Given the description of an element on the screen output the (x, y) to click on. 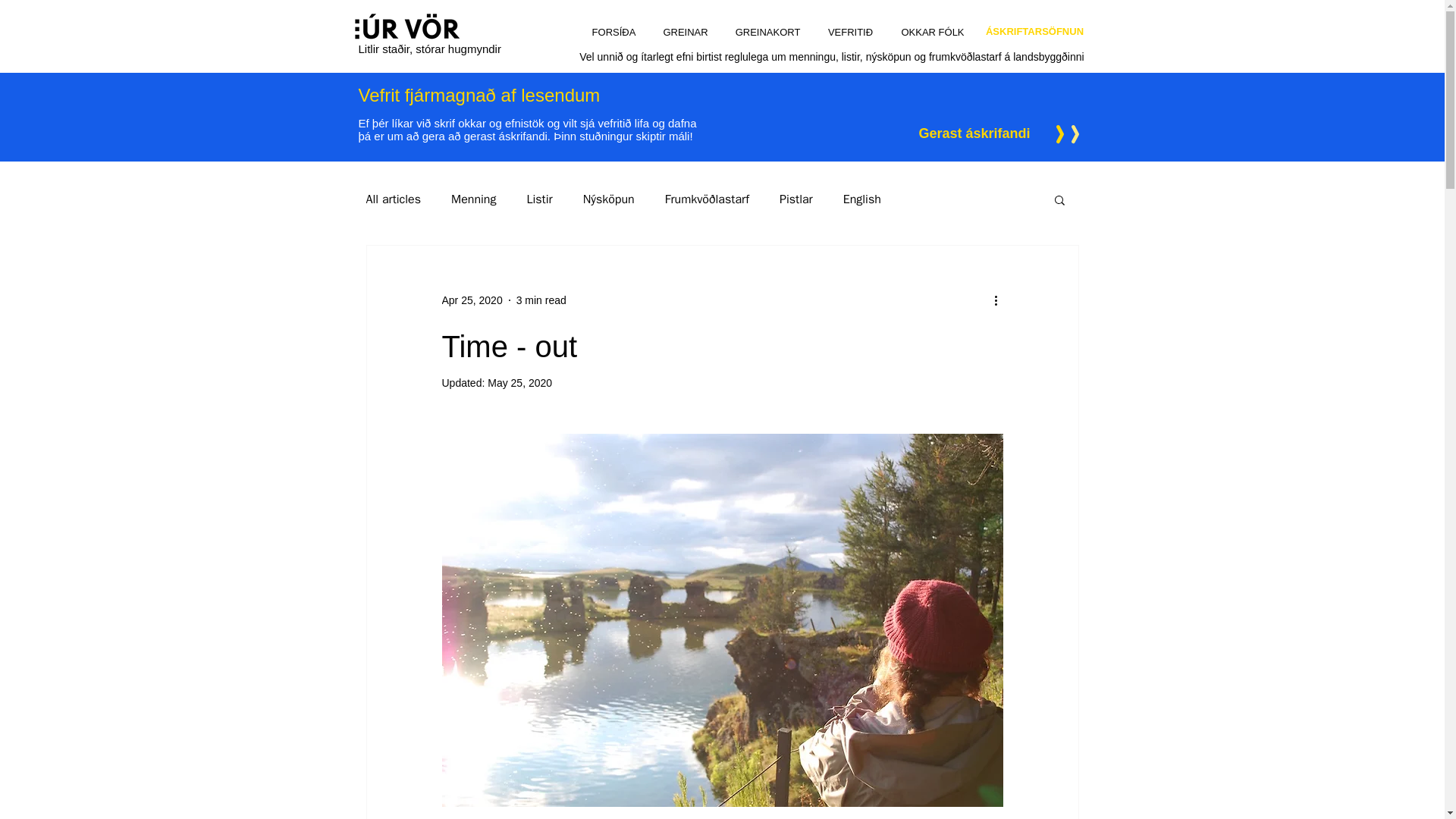
3 min read (541, 300)
All articles (392, 198)
Listir (538, 198)
GREINAKORT (767, 32)
GREINAR (684, 32)
Menning (473, 198)
Apr 25, 2020 (471, 300)
May 25, 2020 (519, 382)
Pistlar (795, 198)
English (861, 198)
